Given the description of an element on the screen output the (x, y) to click on. 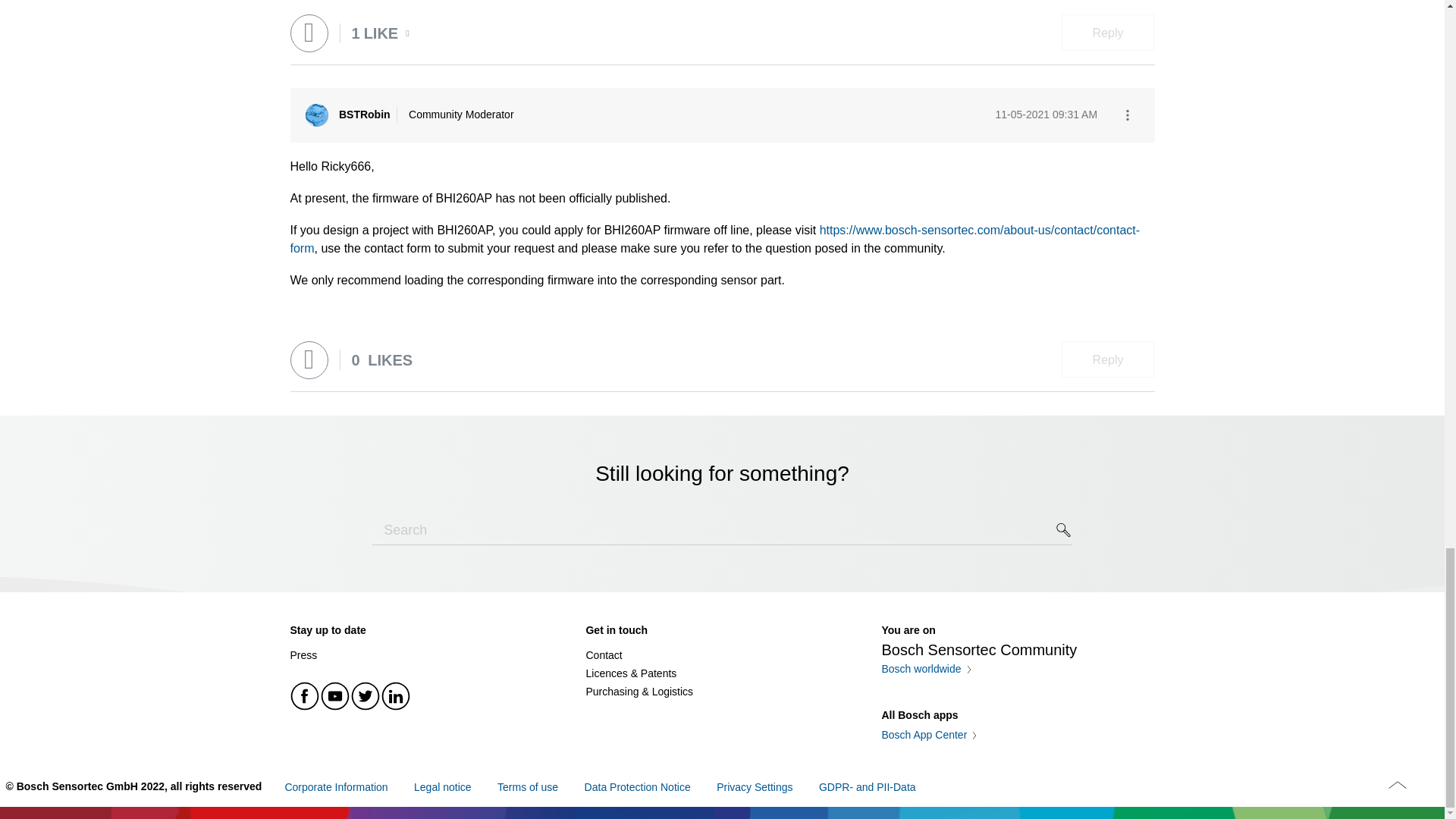
Icon search (1064, 529)
Twitter (365, 695)
Icon up (1397, 784)
Facebook (304, 695)
Youtube (335, 695)
Linkedin (395, 695)
